Given the description of an element on the screen output the (x, y) to click on. 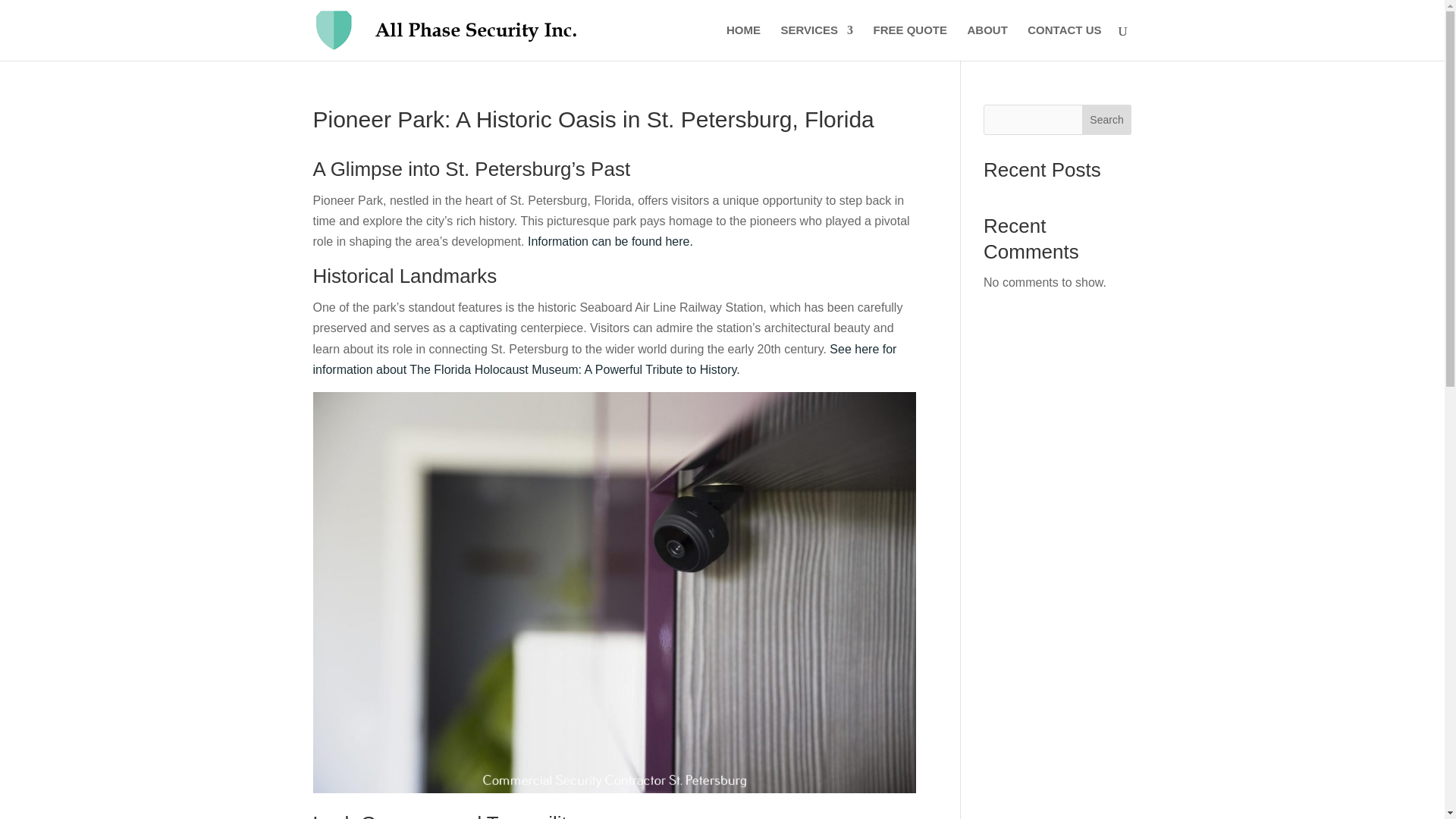
FREE QUOTE (910, 42)
HOME (743, 42)
Search (1106, 119)
ABOUT (987, 42)
CONTACT US (1063, 42)
Information can be found here. (610, 241)
SERVICES (816, 42)
